Given the description of an element on the screen output the (x, y) to click on. 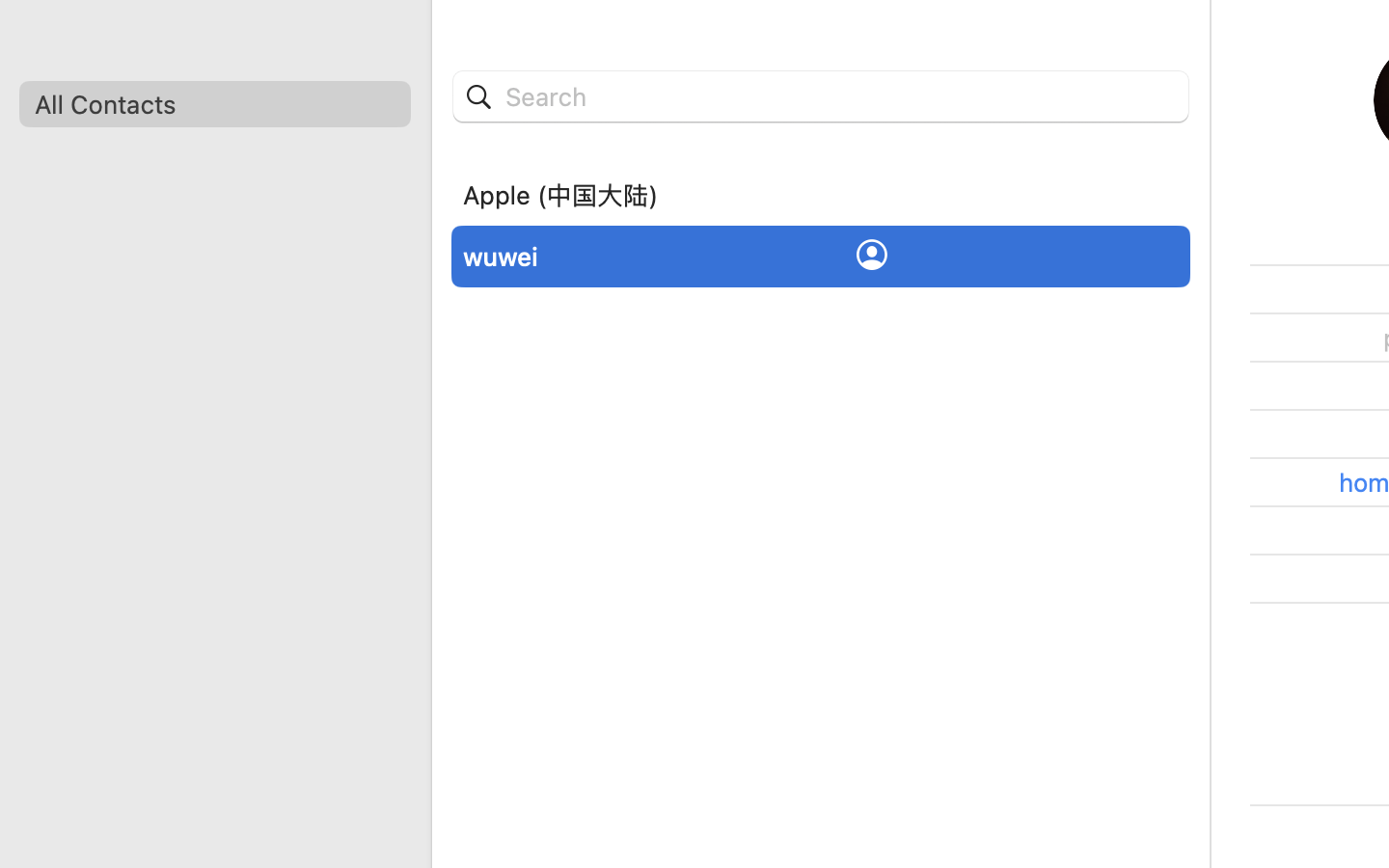
All Contacts Element type: AXStaticText (214, 103)
Apple (中国大陆) Element type: AXStaticText (560, 194)
wuwei Element type: AXStaticText (500, 256)
